Given the description of an element on the screen output the (x, y) to click on. 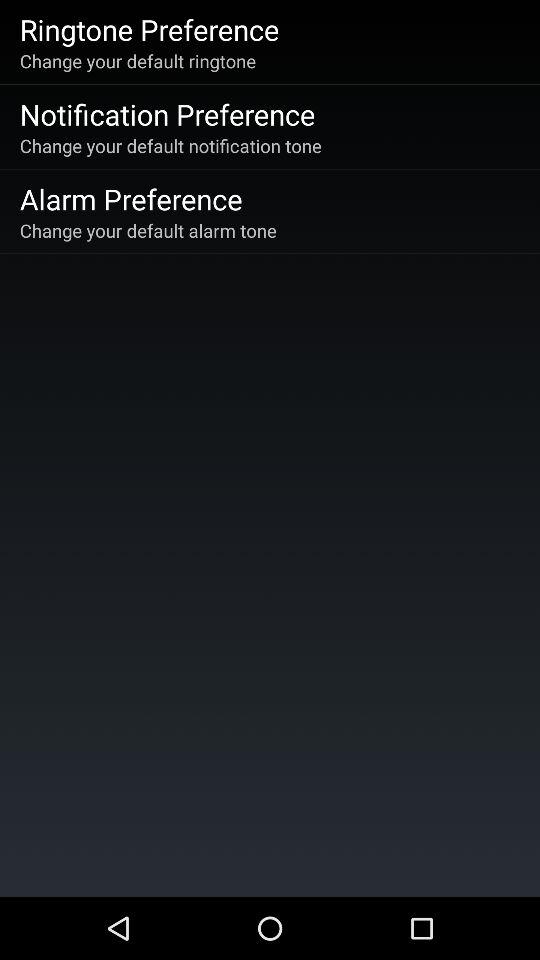
open item below the change your default icon (167, 113)
